Given the description of an element on the screen output the (x, y) to click on. 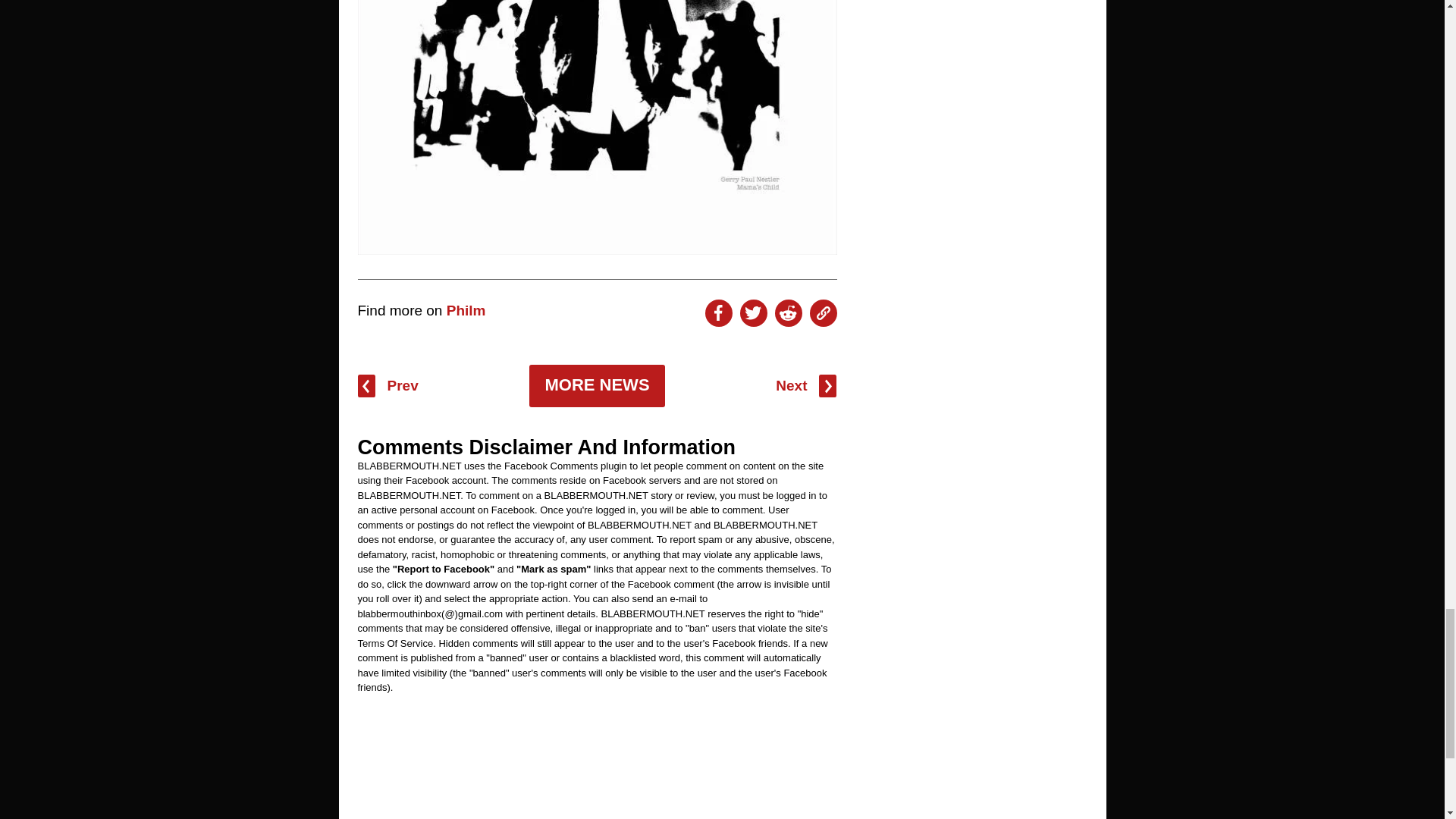
Copy To Clipboard (823, 312)
Share On Twitter (753, 312)
Share On Reddit (788, 312)
MORE NEWS (596, 385)
Next (805, 385)
Prev (388, 385)
Share On Facebook (718, 312)
Philm (466, 310)
